Given the description of an element on the screen output the (x, y) to click on. 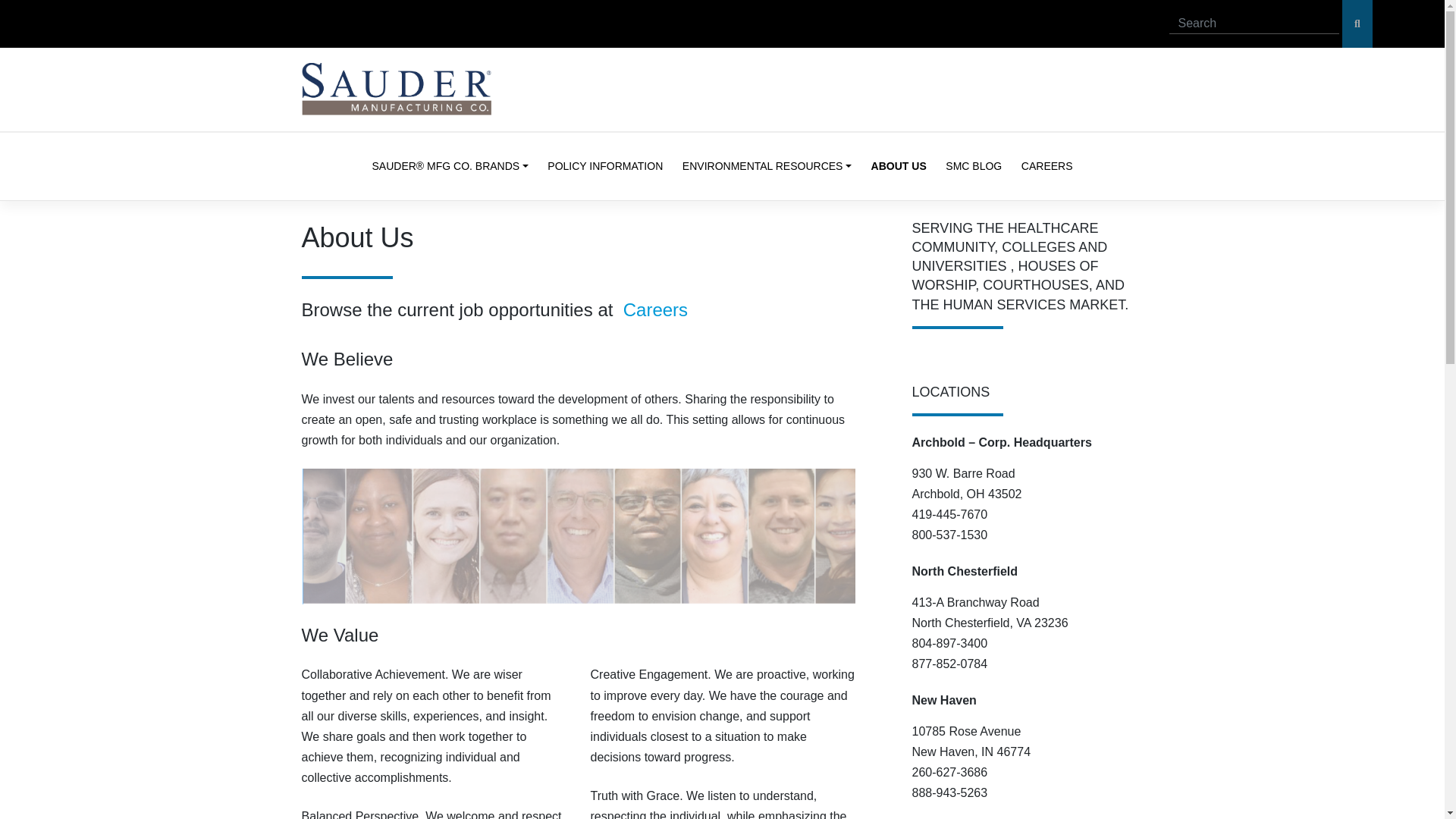
SMC Blog (973, 166)
ABOUT US (898, 166)
SMC BLOG (973, 166)
Careers (1046, 166)
Environmental Resources (766, 166)
Policy Information (605, 166)
About Us (898, 166)
ENVIRONMENTAL RESOURCES (766, 166)
CAREERS (1046, 166)
POLICY INFORMATION (605, 166)
Careers (655, 309)
Search for: (1254, 23)
